Given the description of an element on the screen output the (x, y) to click on. 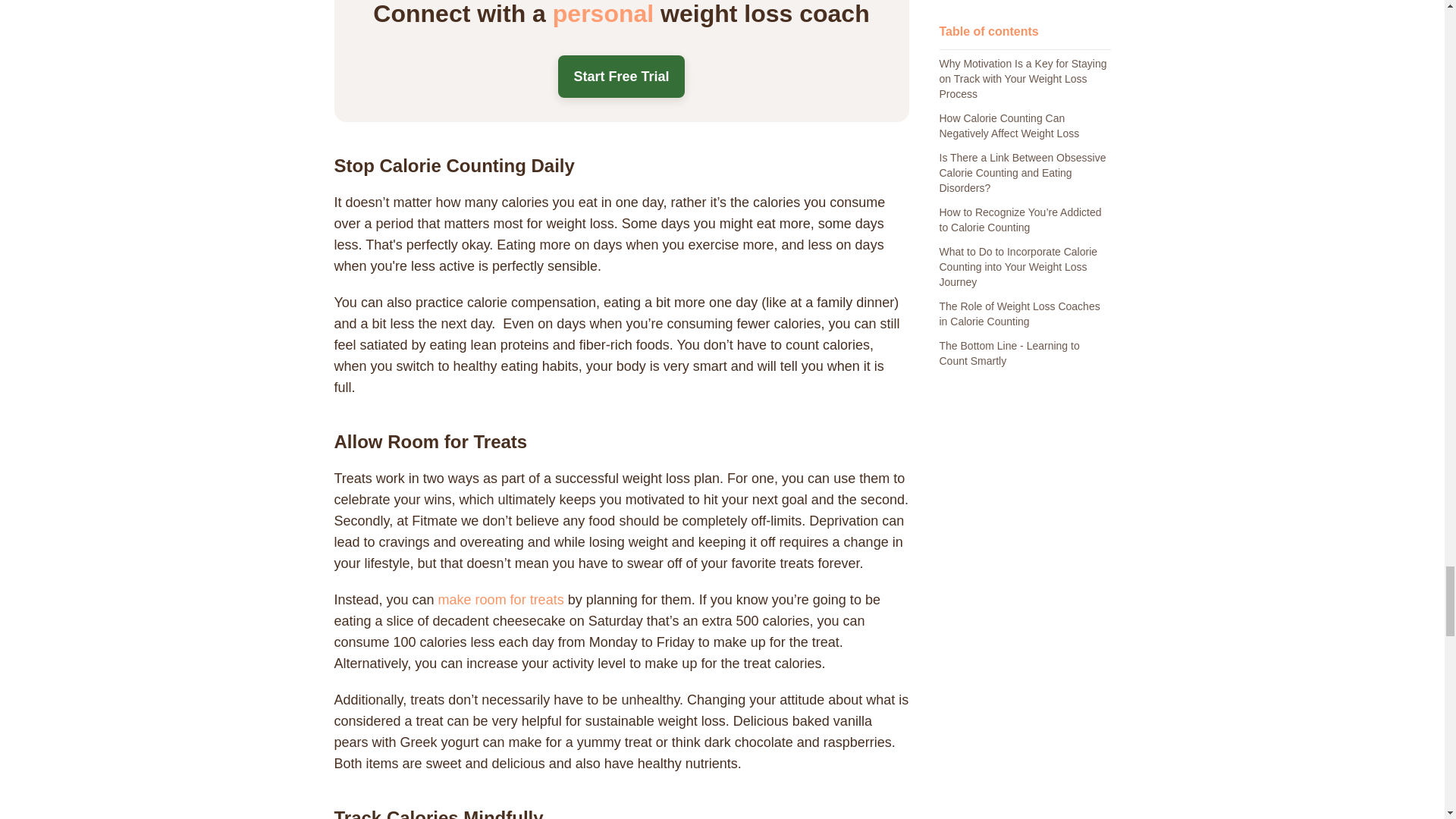
make room for treats (501, 599)
Start Free Trial (620, 76)
